Given the description of an element on the screen output the (x, y) to click on. 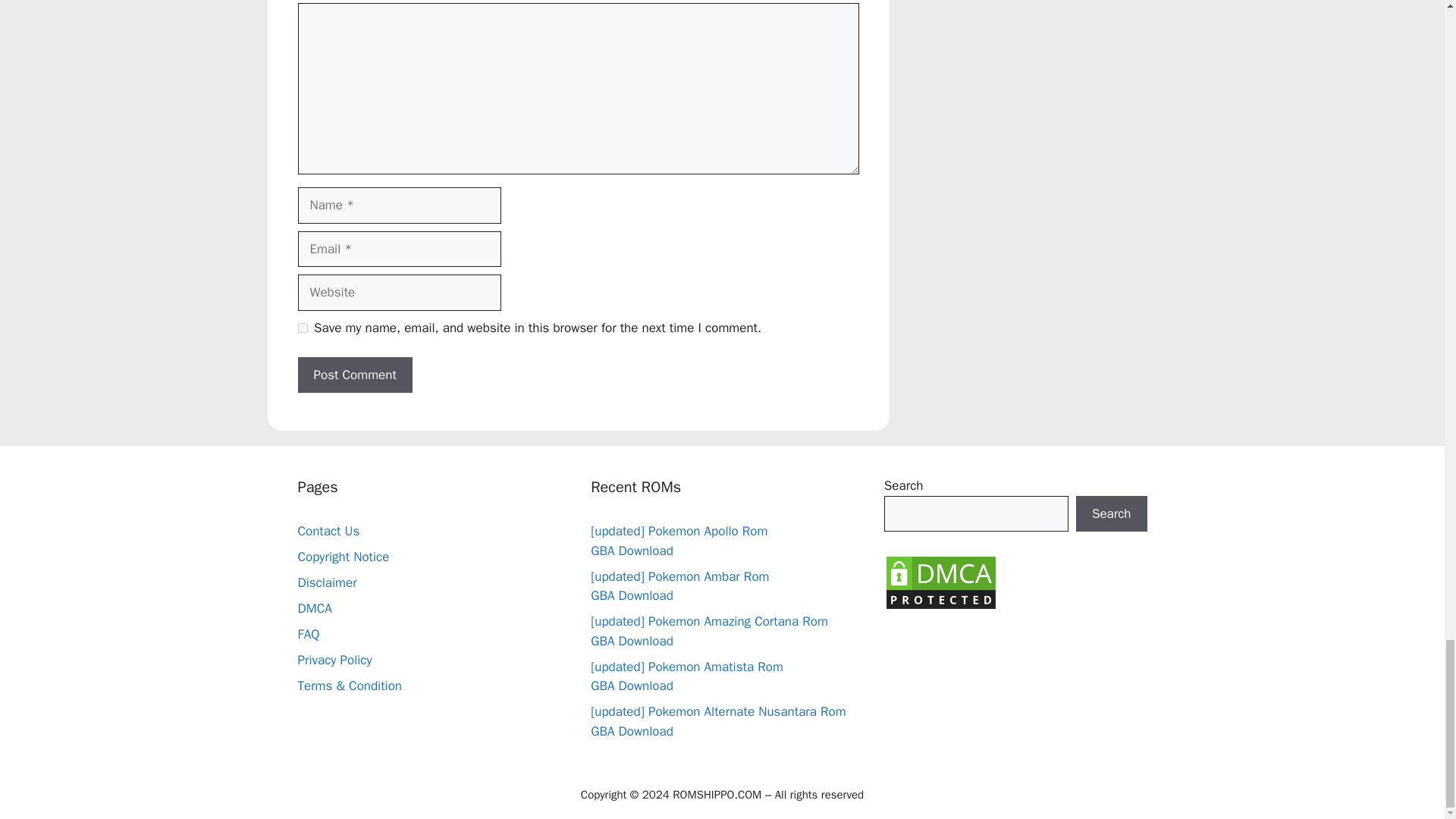
DMCA.com Protection Status (940, 606)
yes (302, 327)
Post Comment (354, 375)
